Given the description of an element on the screen output the (x, y) to click on. 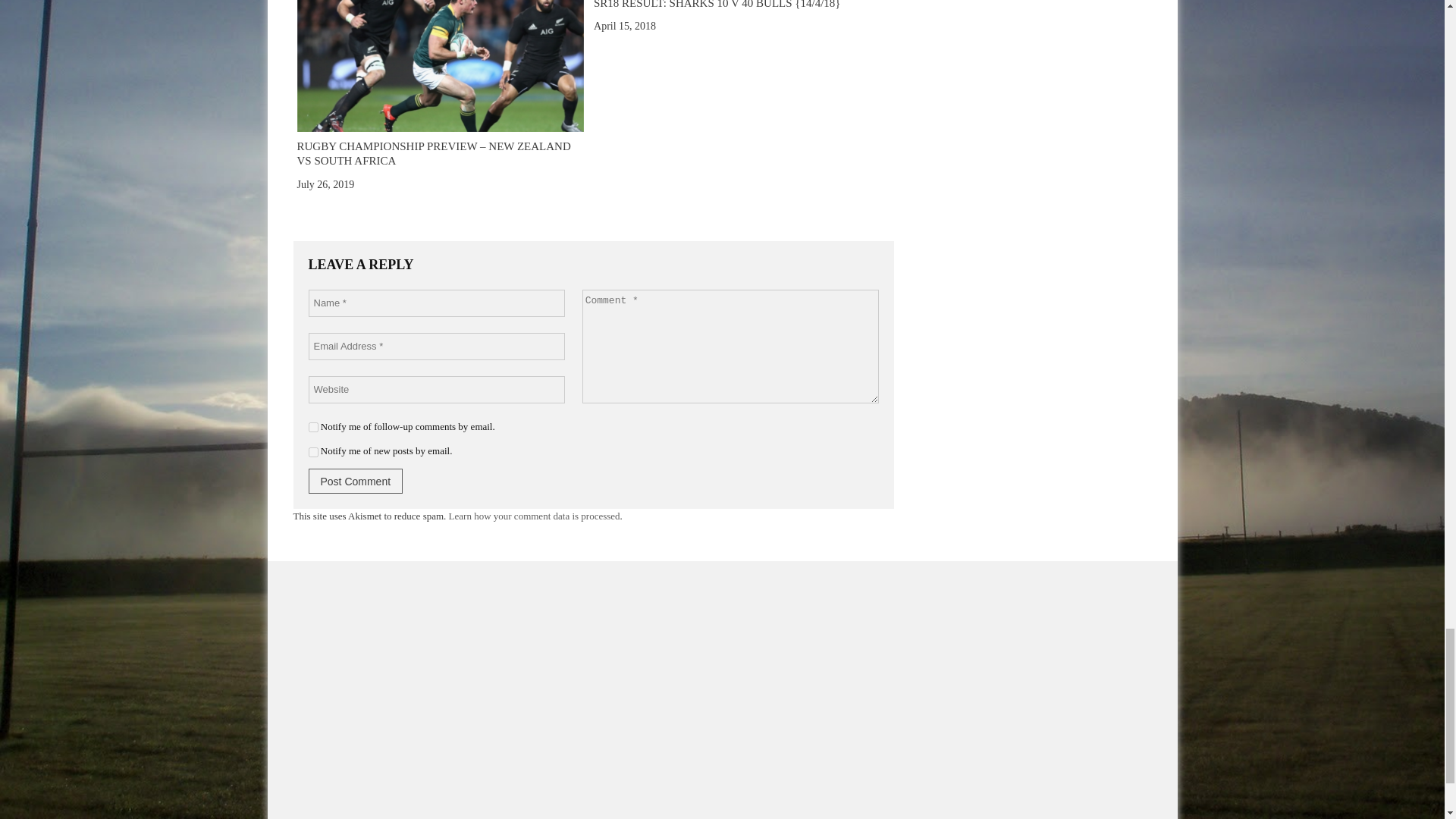
subscribe (312, 427)
Post Comment (355, 480)
July 26, 2019 (326, 184)
April 15, 2018 (625, 25)
subscribe (312, 452)
